Given the description of an element on the screen output the (x, y) to click on. 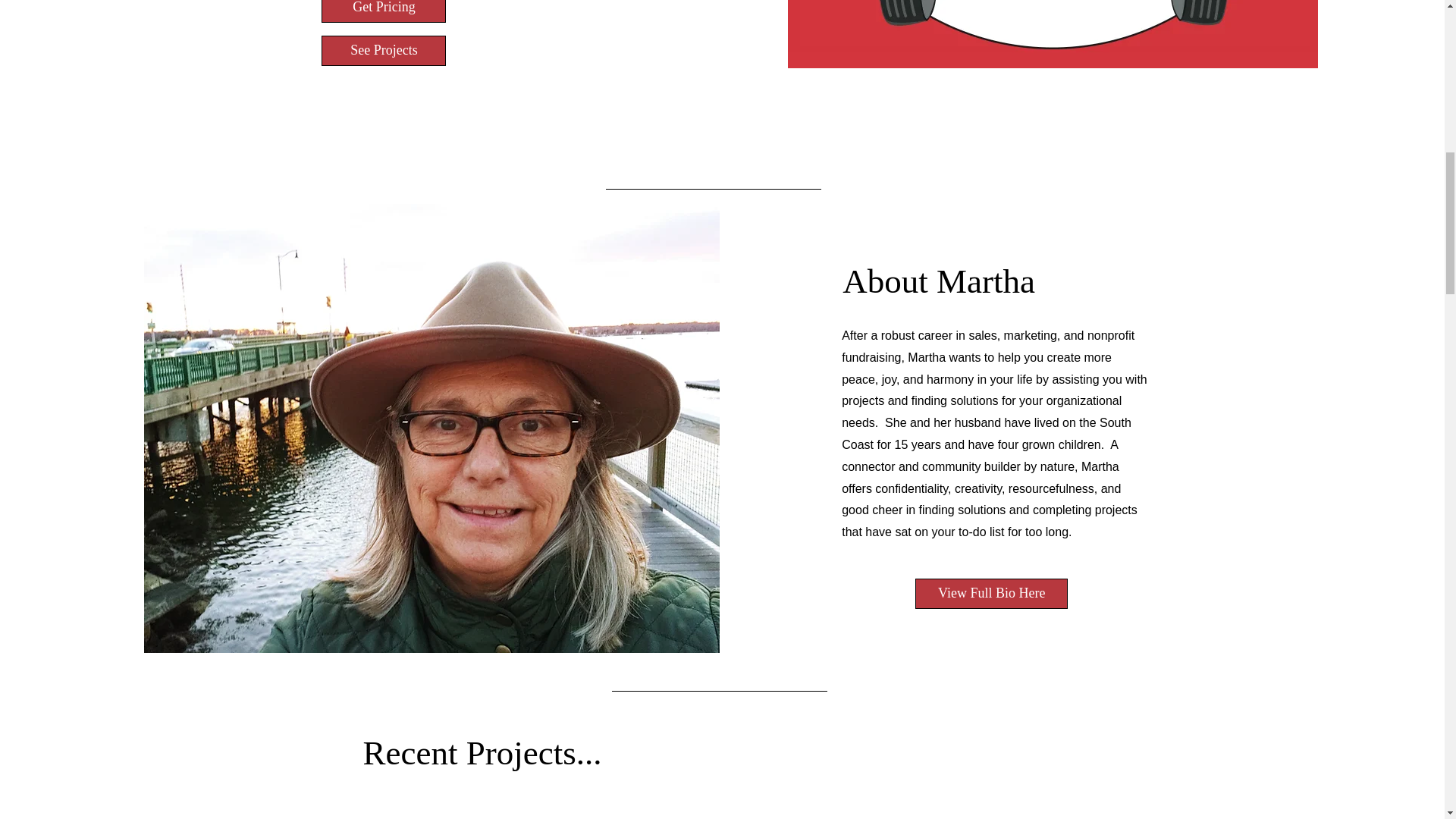
See Projects (383, 51)
View Full Bio Here (991, 593)
Get Pricing (383, 11)
